Given the description of an element on the screen output the (x, y) to click on. 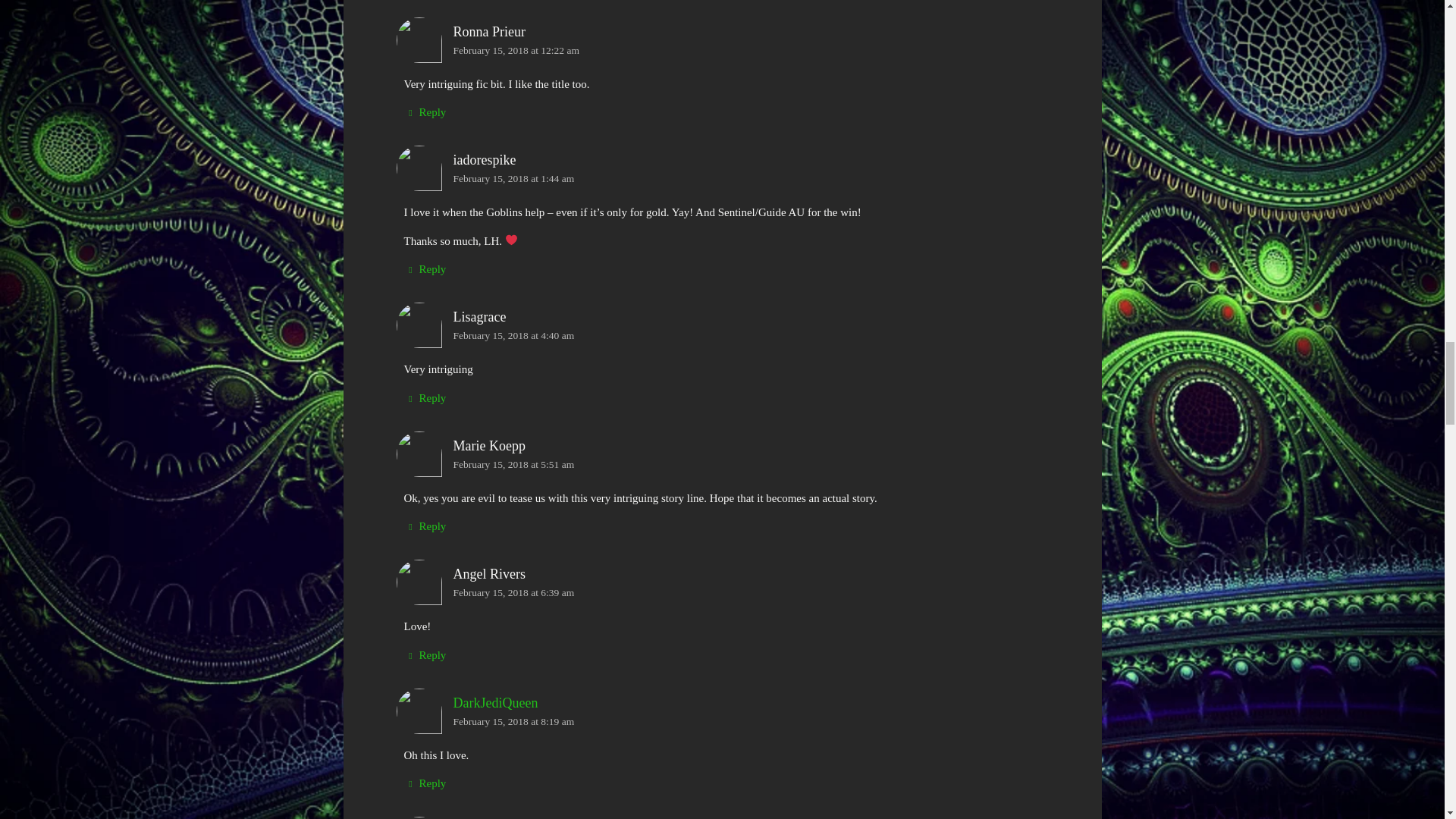
Reply (424, 112)
February 15, 2018 at 1:44 am (513, 178)
February 15, 2018 at 12:22 am (515, 50)
February 15, 2018 at 4:40 am (513, 335)
Reply (424, 269)
